Given the description of an element on the screen output the (x, y) to click on. 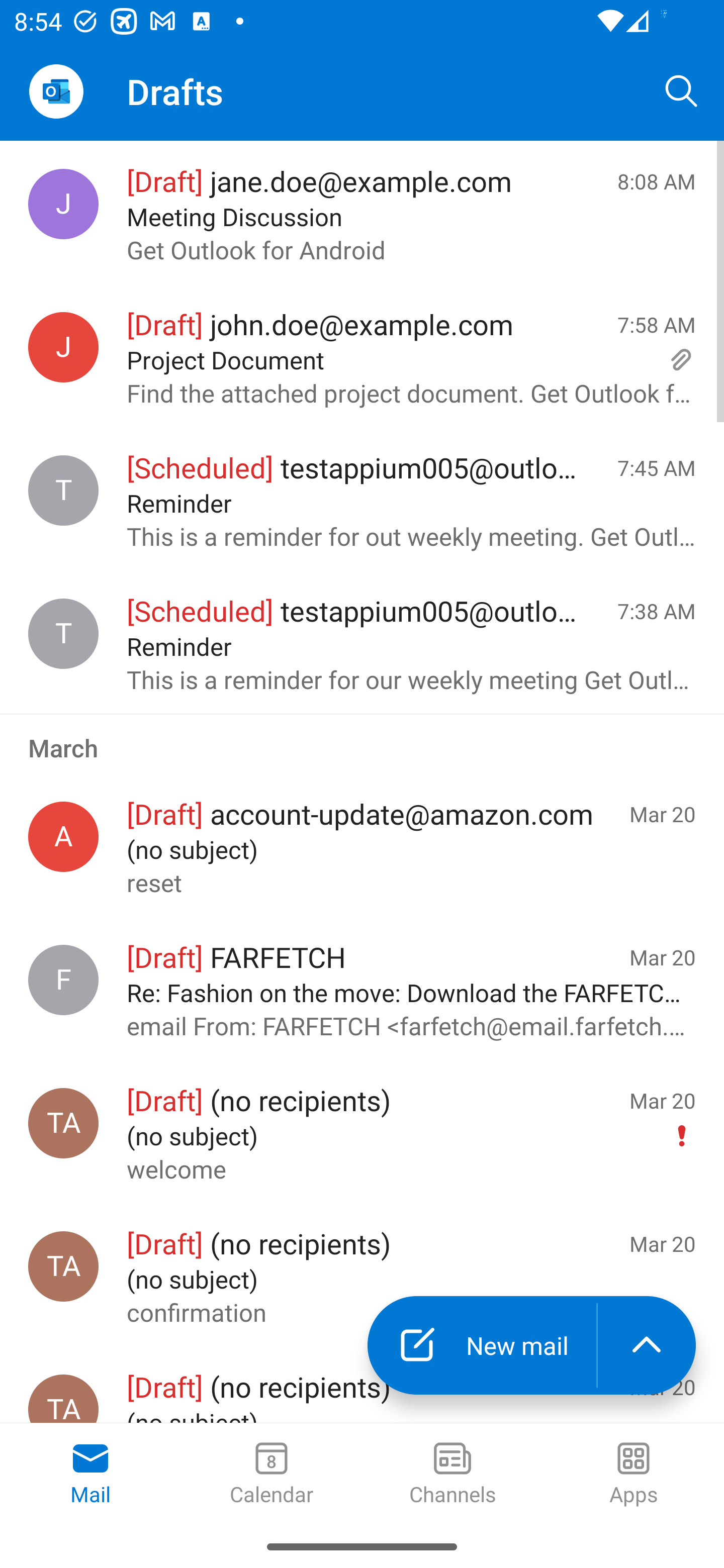
Search, ,  (681, 90)
Open Navigation Drawer (55, 91)
jane.doe@example.com, testappium002@outlook.com (63, 204)
john.doe@example.com, testappium002@outlook.com (63, 347)
account-update@amazon.com (63, 836)
FARFETCH, testappium002@outlook.com (63, 979)
Test Appium, testappium002@outlook.com (63, 1123)
Test Appium, testappium002@outlook.com (63, 1265)
New mail (481, 1344)
launch the extended action menu (646, 1344)
